Given the description of an element on the screen output the (x, y) to click on. 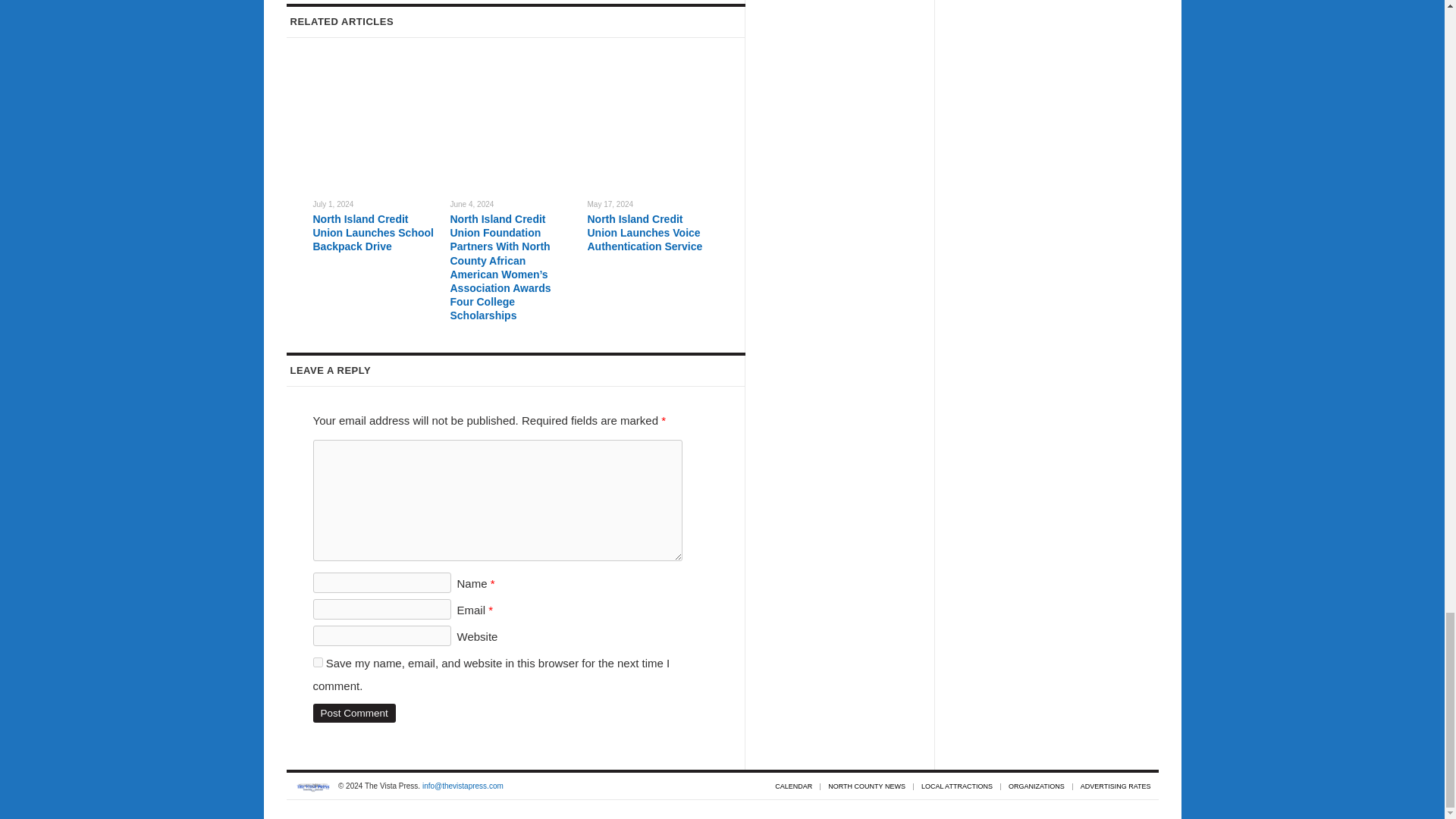
yes (317, 662)
Post Comment (353, 712)
